Given the description of an element on the screen output the (x, y) to click on. 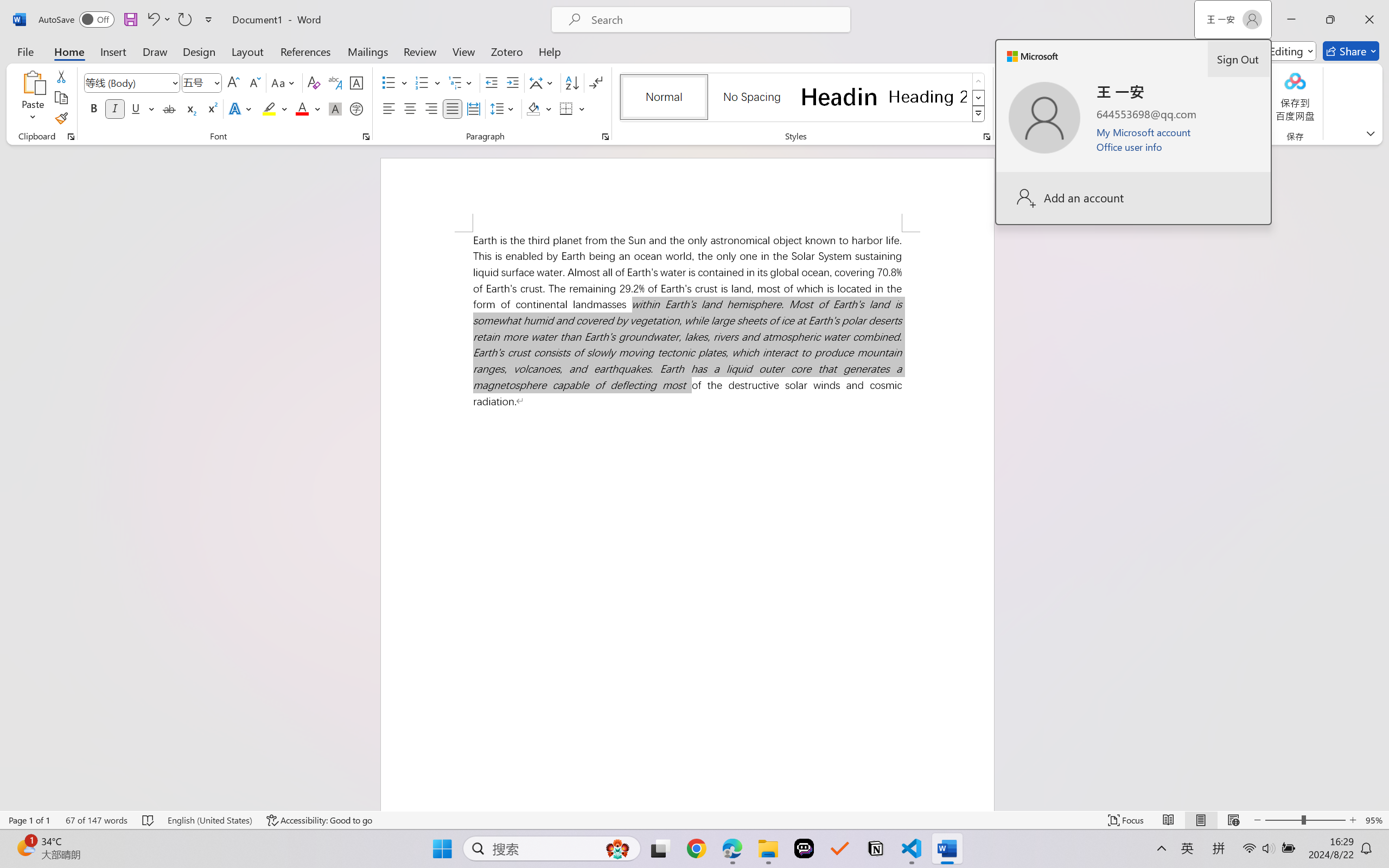
Clear Formatting (313, 82)
Row Down (978, 97)
Shading (539, 108)
Font... (365, 136)
Styles (978, 113)
Subscript (190, 108)
Change Case (284, 82)
Font Color (308, 108)
Page 1 content (687, 521)
Open (215, 82)
